Given the description of an element on the screen output the (x, y) to click on. 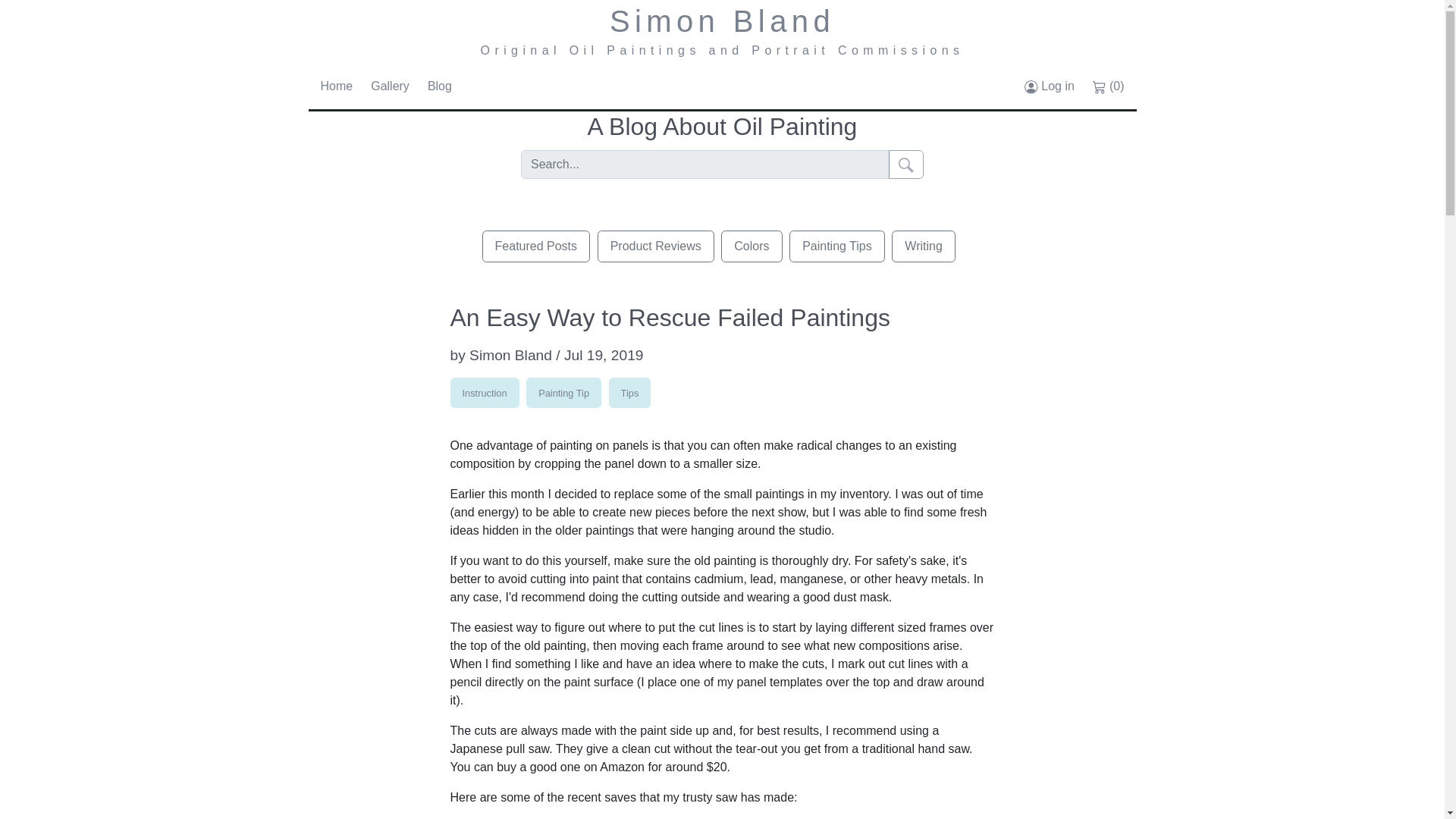
Blog (439, 85)
Tips (629, 392)
Featured Posts (536, 246)
Writing (923, 246)
Instruction (484, 392)
Painting Tip (563, 392)
Colors (750, 246)
Gallery (390, 85)
Painting Tips (837, 246)
Product Reviews (655, 246)
